Given the description of an element on the screen output the (x, y) to click on. 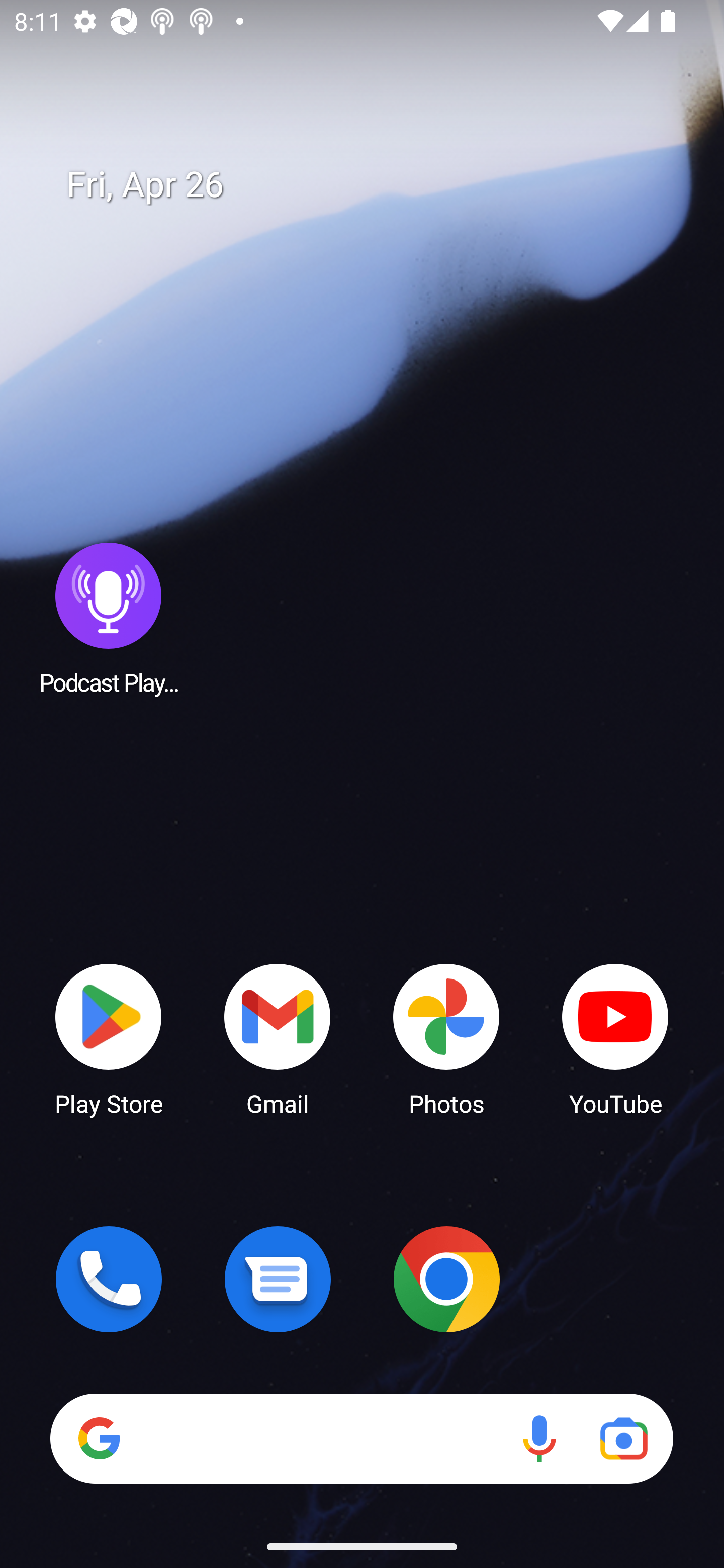
Fri, Apr 26 (375, 184)
Podcast Player (108, 617)
Play Store (108, 1038)
Gmail (277, 1038)
Photos (445, 1038)
YouTube (615, 1038)
Phone (108, 1279)
Messages (277, 1279)
Chrome (446, 1279)
Search Voice search Google Lens (361, 1438)
Voice search (539, 1438)
Google Lens (623, 1438)
